Given the description of an element on the screen output the (x, y) to click on. 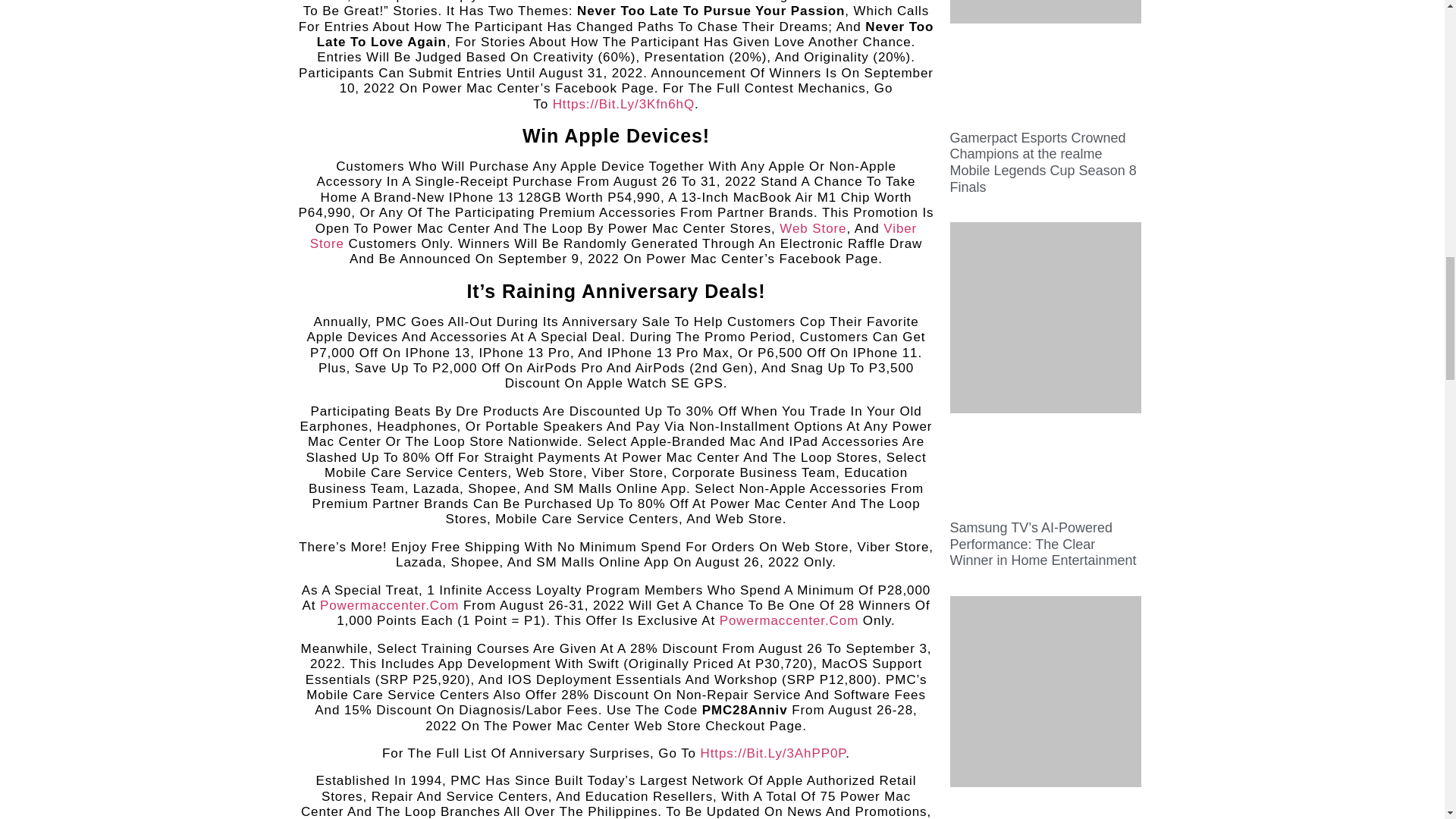
Powermaccenter.Com (389, 605)
Web Store (811, 228)
Viber Store (613, 235)
Powermaccenter.Com (789, 620)
